Given the description of an element on the screen output the (x, y) to click on. 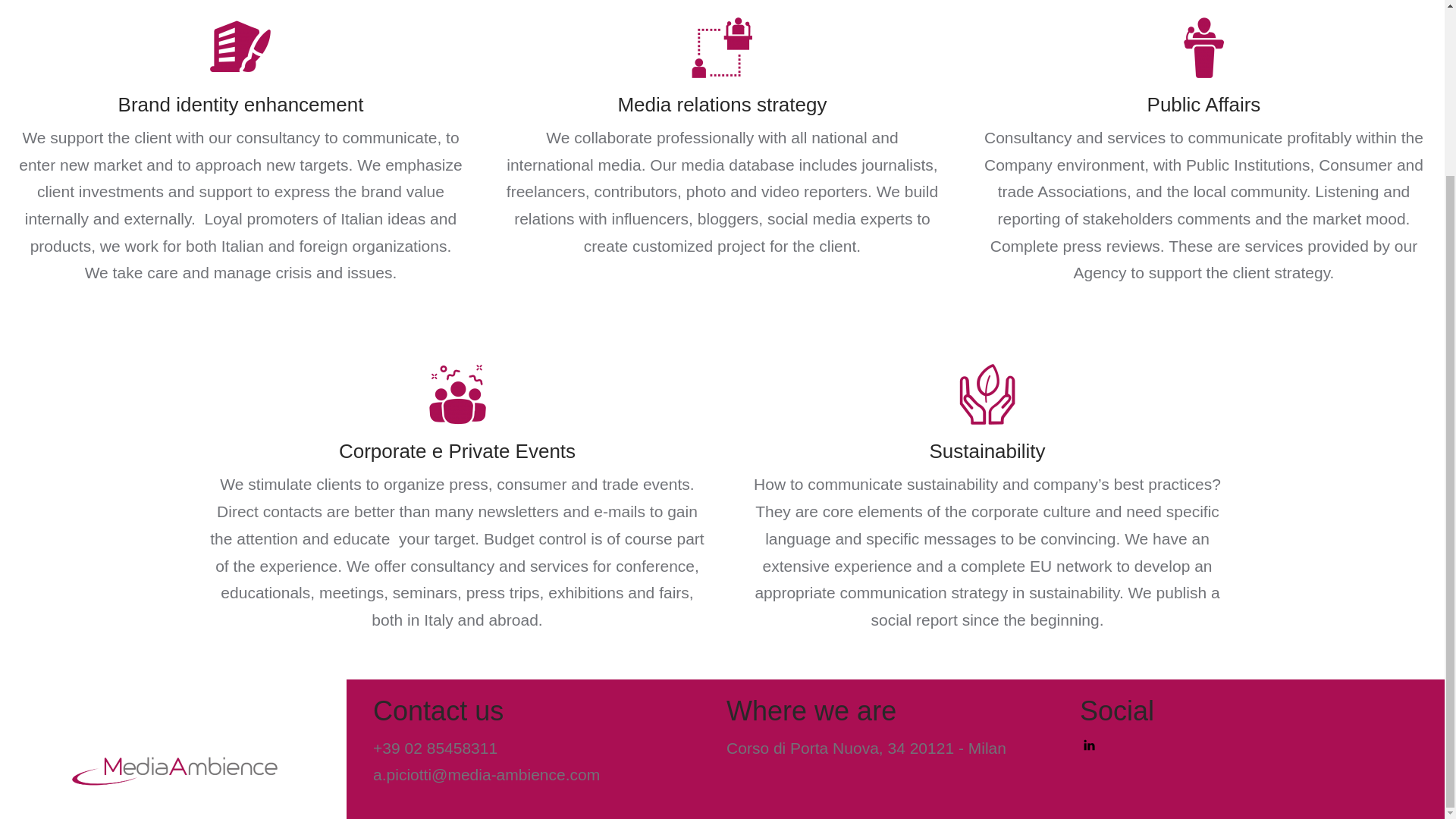
Tavola disegno 1 copia 36 (1203, 47)
Tavola disegno 1 copia 46 (239, 47)
Tavola disegno 14 (456, 394)
Tavola disegno 1 copia 26 (721, 47)
Tavola disegno 1 copia6 (986, 394)
